Given the description of an element on the screen output the (x, y) to click on. 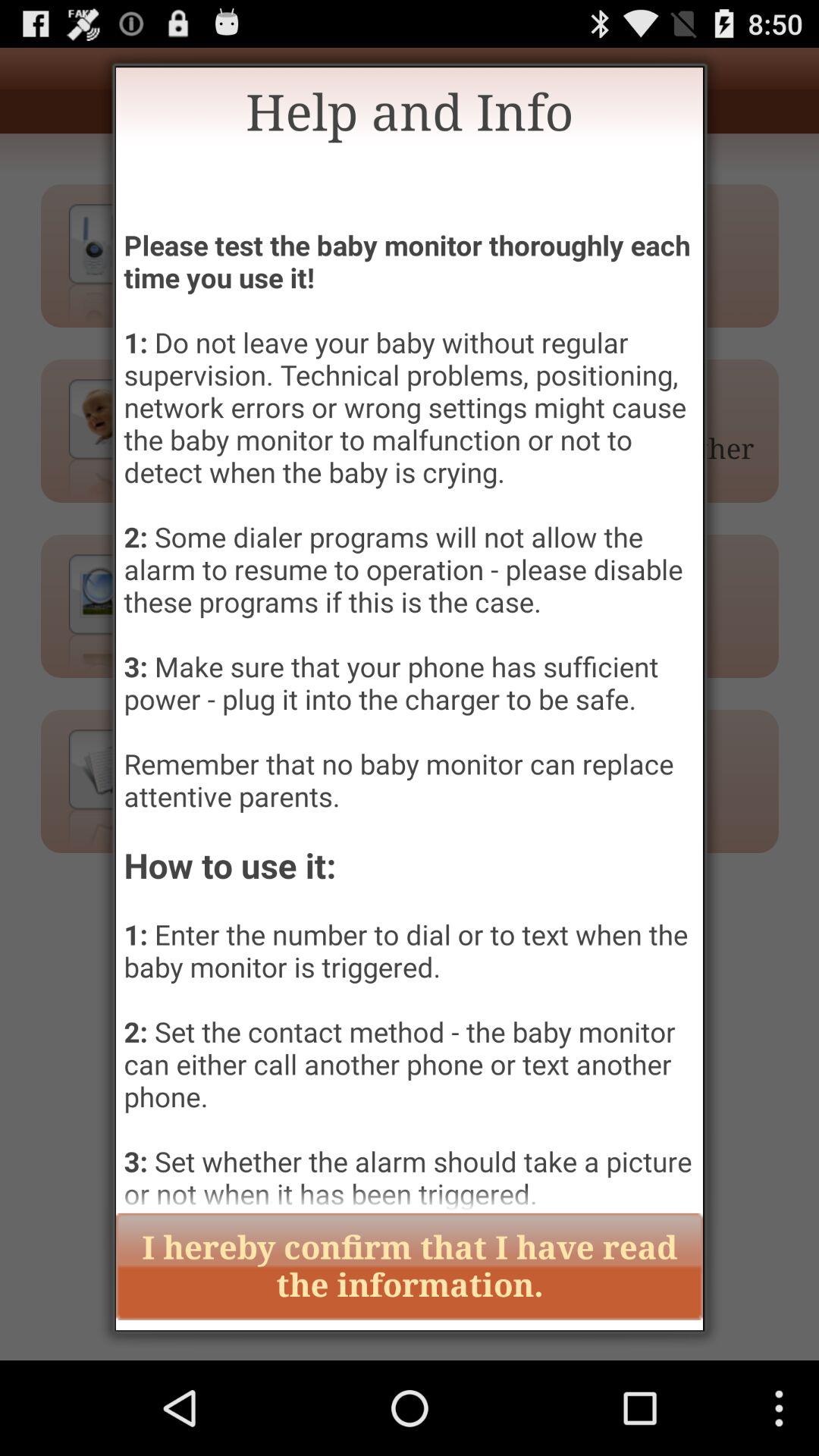
tap the item at the bottom (409, 1266)
